Given the description of an element on the screen output the (x, y) to click on. 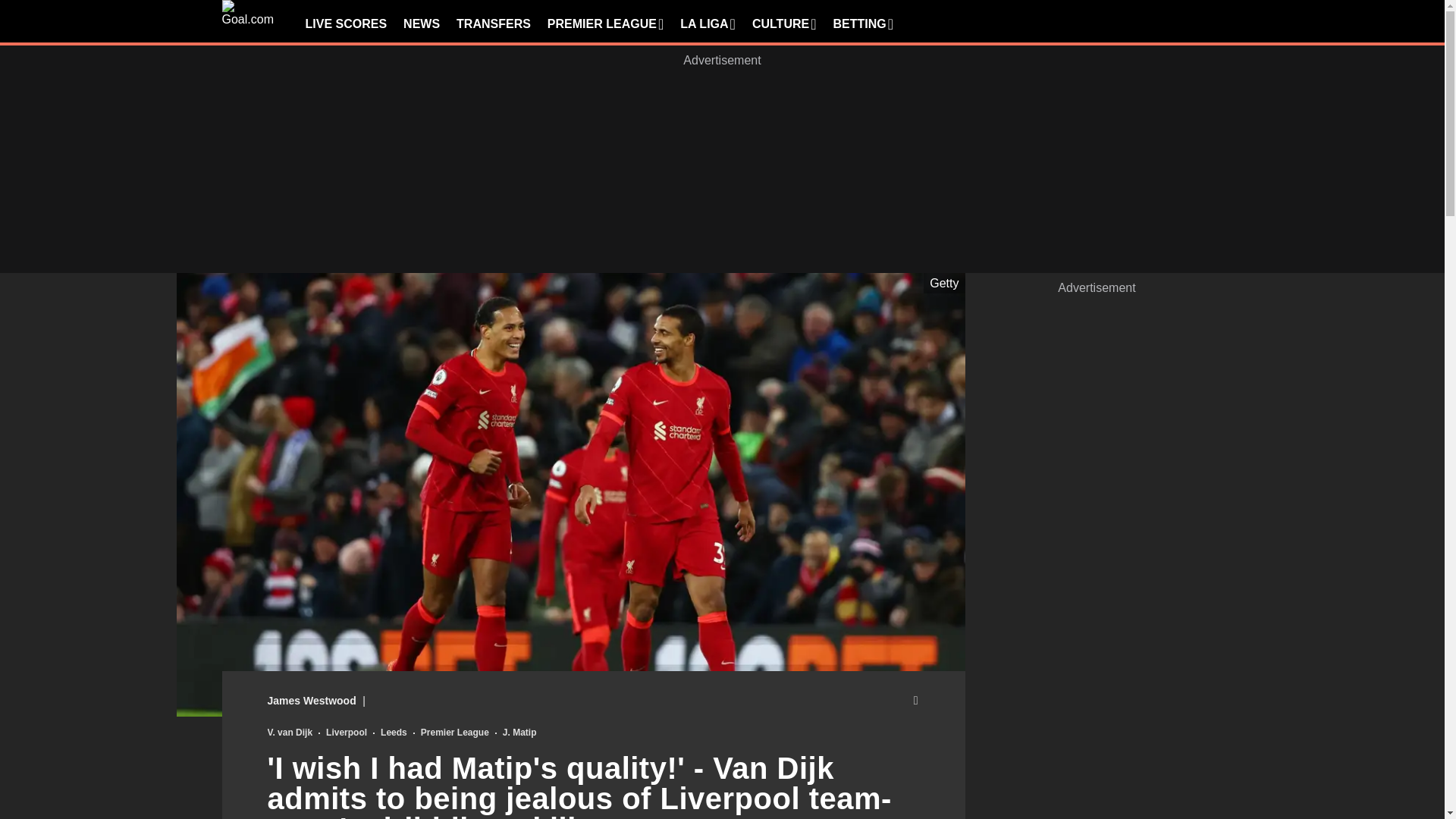
PREMIER LEAGUE (605, 23)
V. van Dijk (289, 733)
CULTURE (784, 23)
Leeds (393, 733)
LIVE SCORES (345, 23)
LA LIGA (707, 23)
TRANSFERS (494, 23)
Premier League (454, 733)
J. Matip (519, 733)
Liverpool (346, 733)
